Given the description of an element on the screen output the (x, y) to click on. 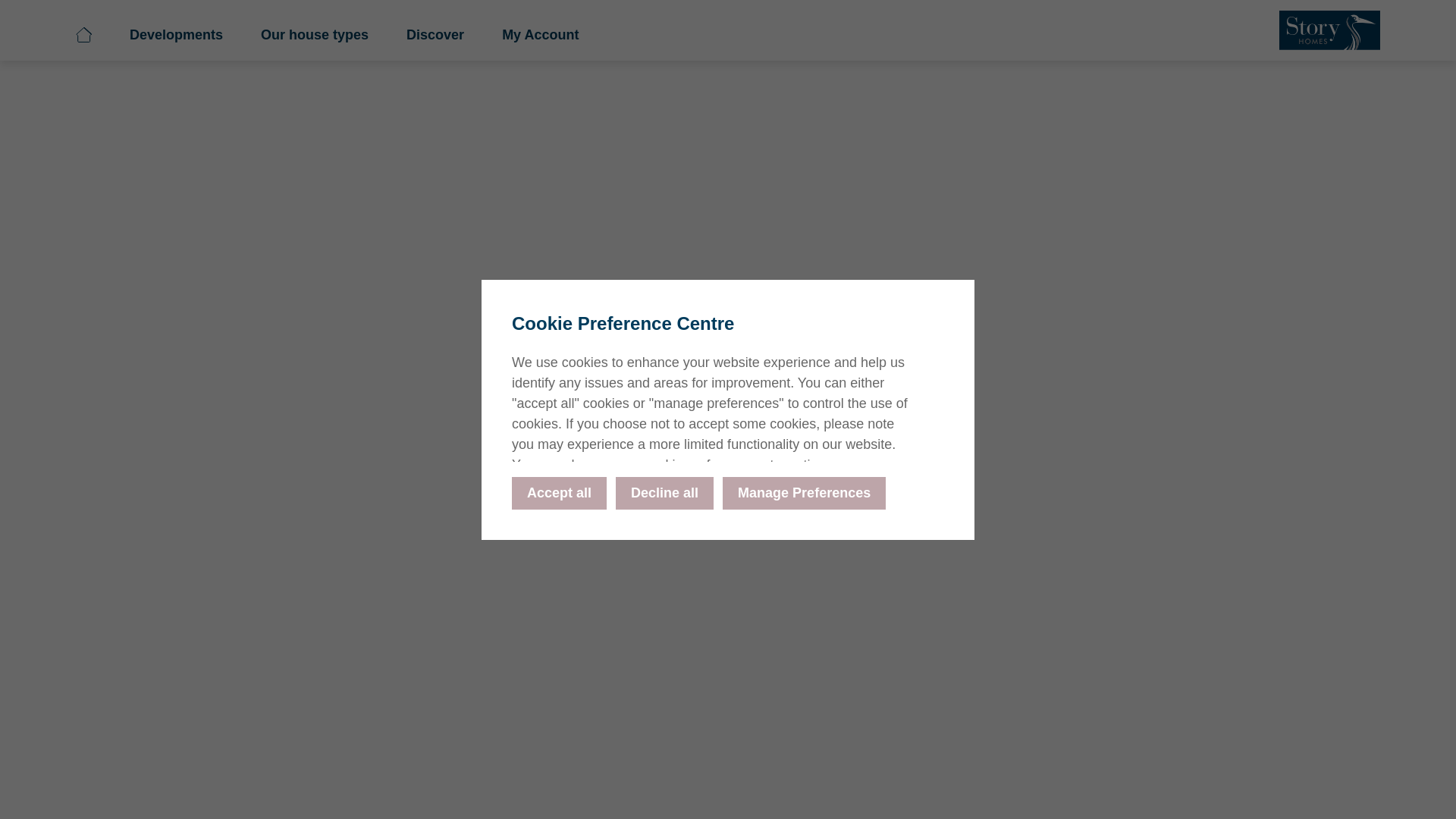
Manage Preferences (803, 491)
Accept all (559, 491)
Decline all (664, 491)
Developments (677, 39)
